Given the description of an element on the screen output the (x, y) to click on. 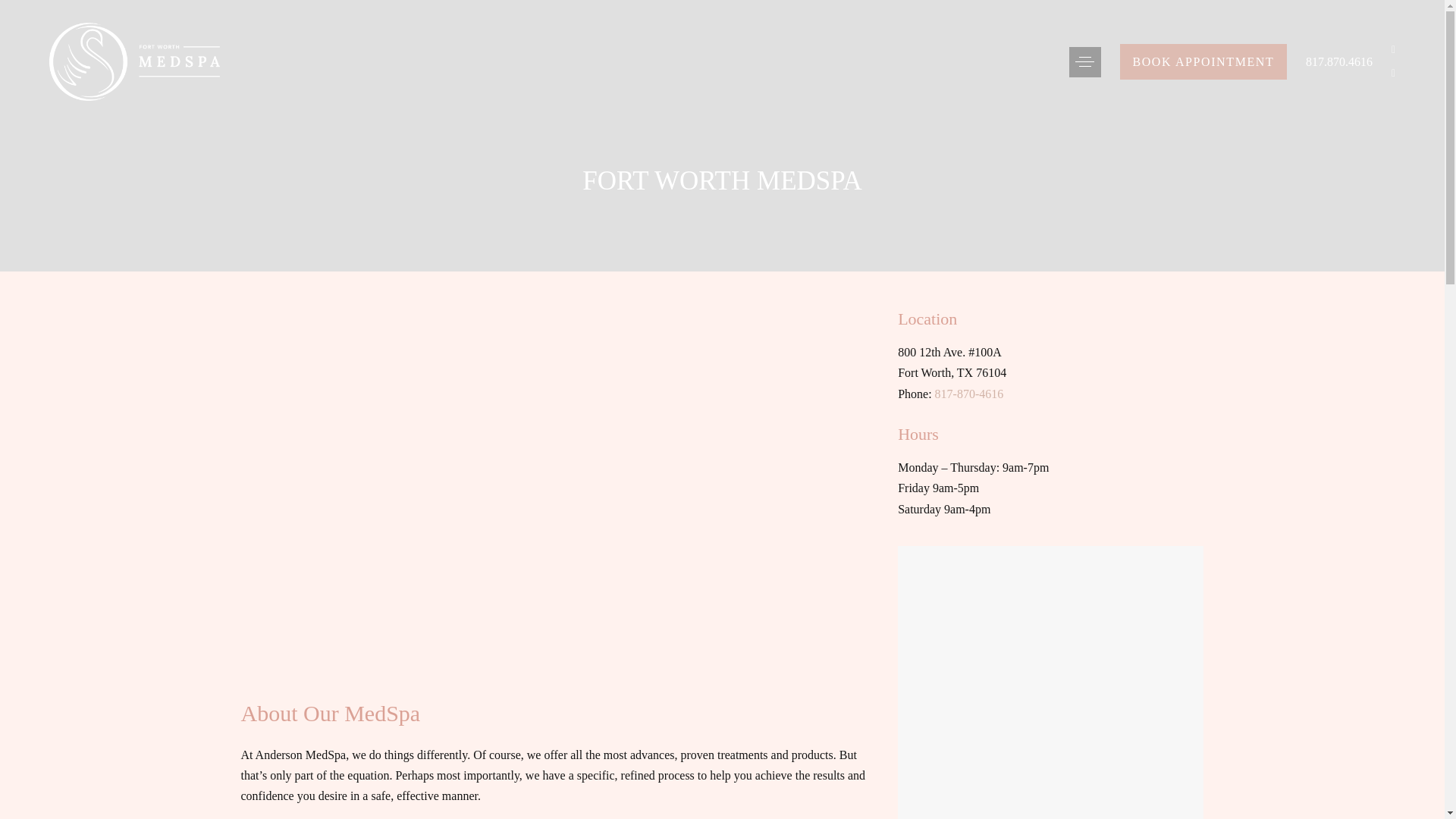
Request Appointment (1203, 61)
